Given the description of an element on the screen output the (x, y) to click on. 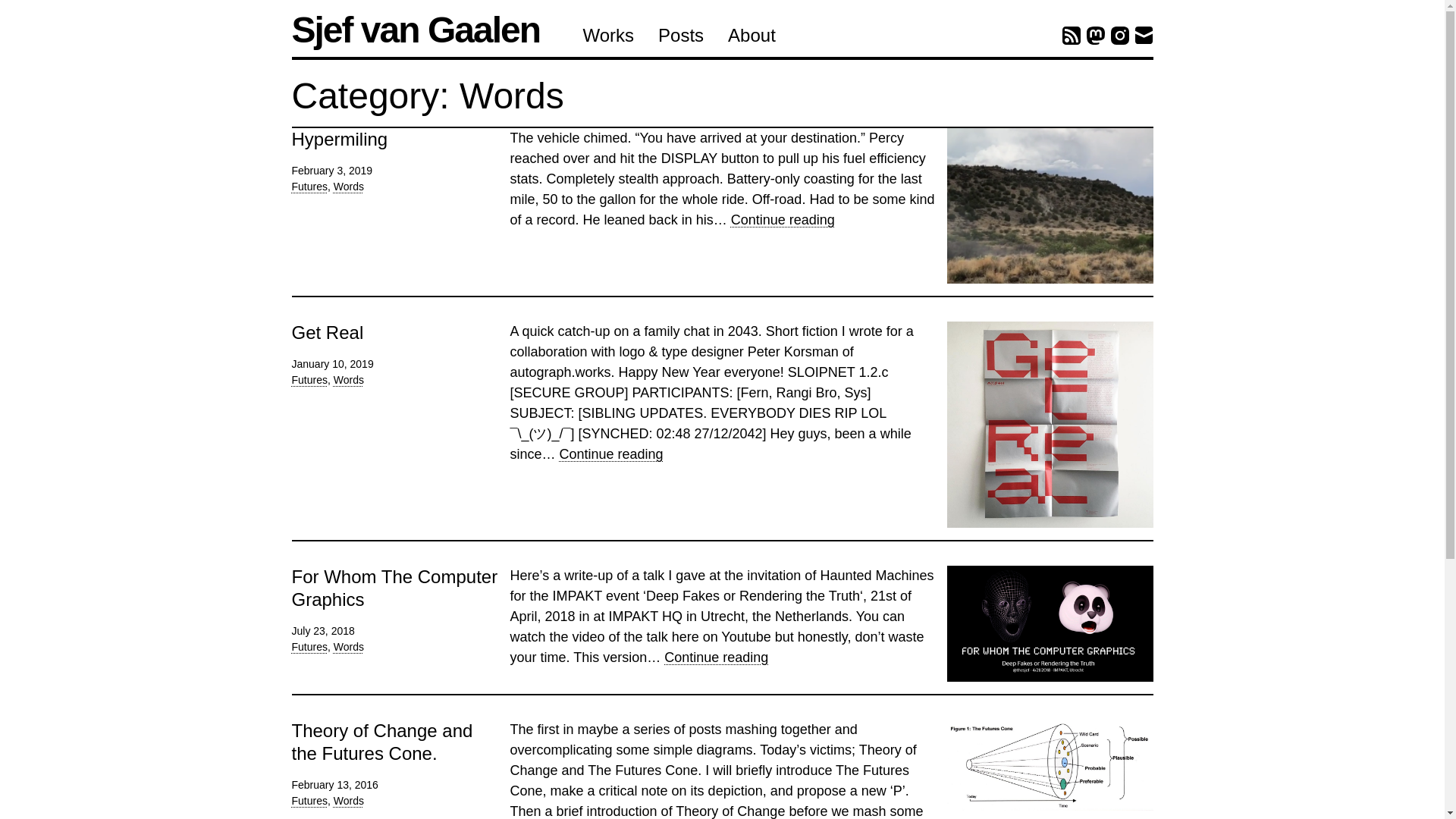
Theory of Change and the Futures Cone. (381, 741)
Works (607, 35)
Hypermiling (339, 138)
Sjef van Gaalen (430, 30)
For Whom The Computer Graphics (394, 587)
strctrnrrtv on Instagram (1118, 35)
RSS Feed (1070, 35)
Get Real (326, 332)
Words (715, 657)
